Given the description of an element on the screen output the (x, y) to click on. 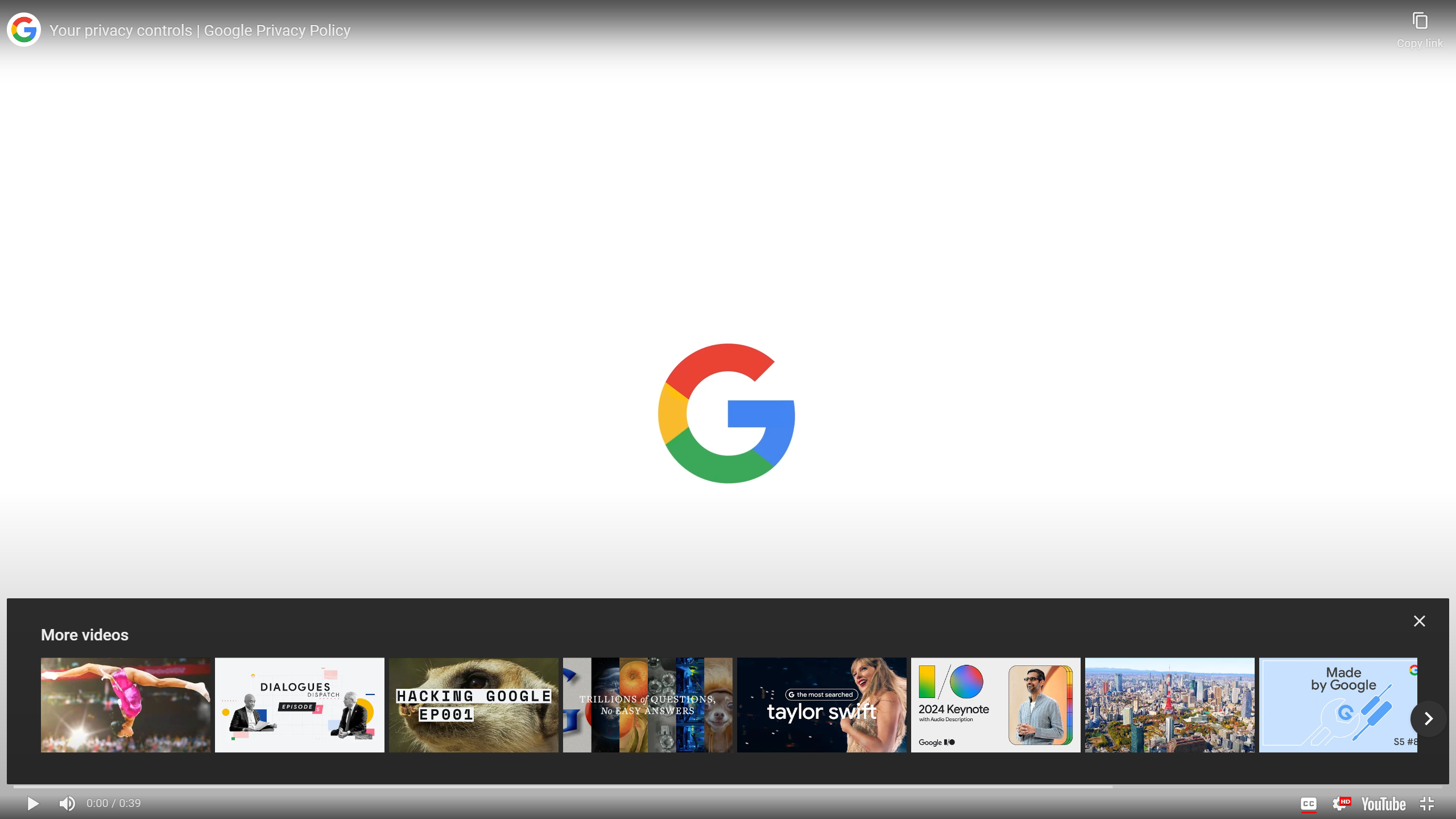
Your privacy controls | Google Privacy Policy (719, 30)
Pause keyboard shortcut k (32, 803)
This is the new Google Earth (1169, 704)
Show more suggested videos (1428, 718)
Mute (m) (67, 803)
Made by Google Podcast S5E8 | Don't trash it, fix it! (1343, 704)
Settings (1338, 803)
Photo image of Google (23, 29)
Exit full screen (f) (1427, 803)
Seek slider (727, 786)
Copy link (1419, 25)
Watch on YouTube (1383, 803)
